Given the description of an element on the screen output the (x, y) to click on. 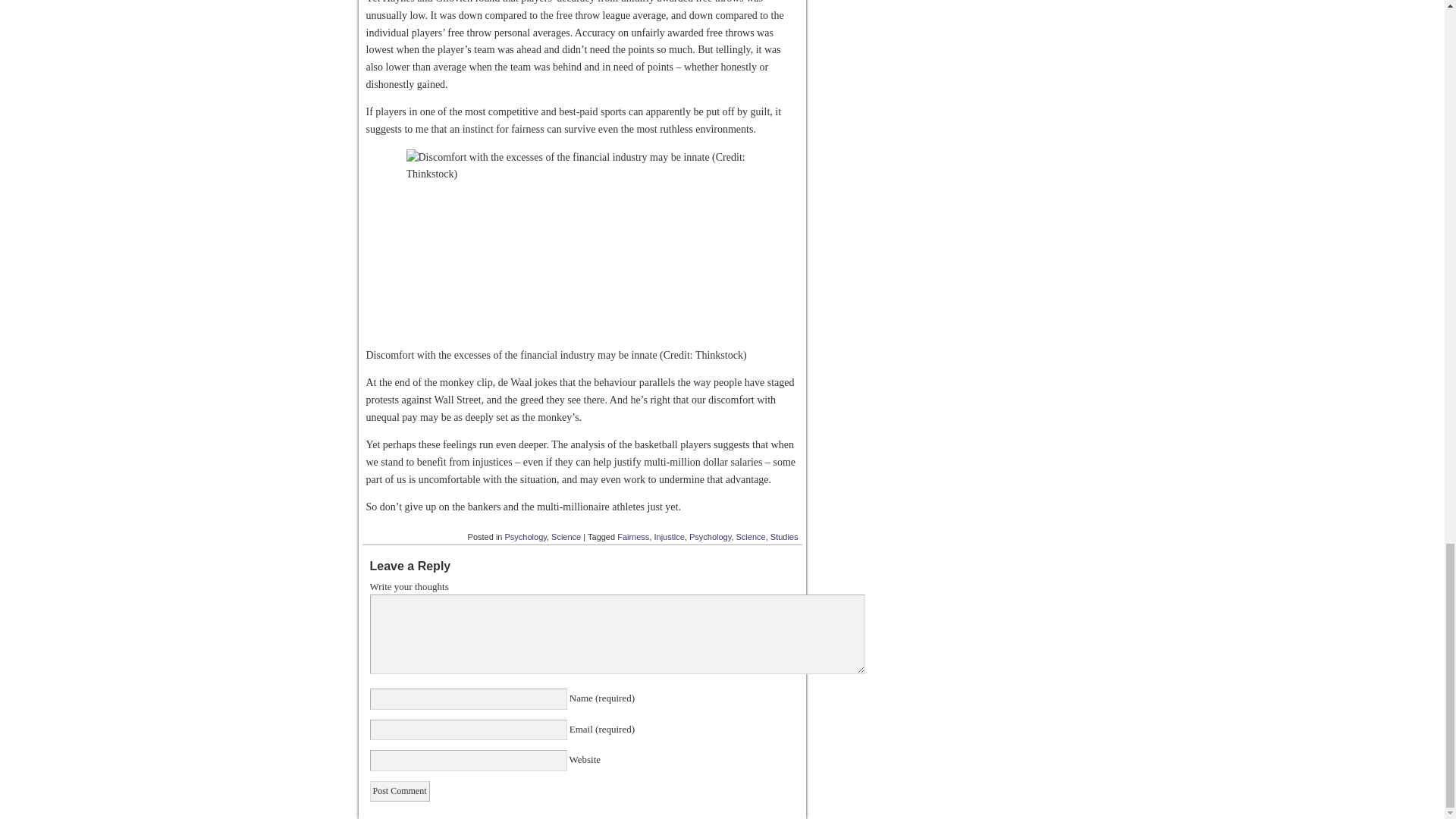
Studies (783, 536)
Injustice (668, 536)
Post Comment (399, 791)
Psychology (709, 536)
Psychology (526, 536)
Science (565, 536)
Fairness (633, 536)
Science (750, 536)
Post Comment (399, 791)
